Given the description of an element on the screen output the (x, y) to click on. 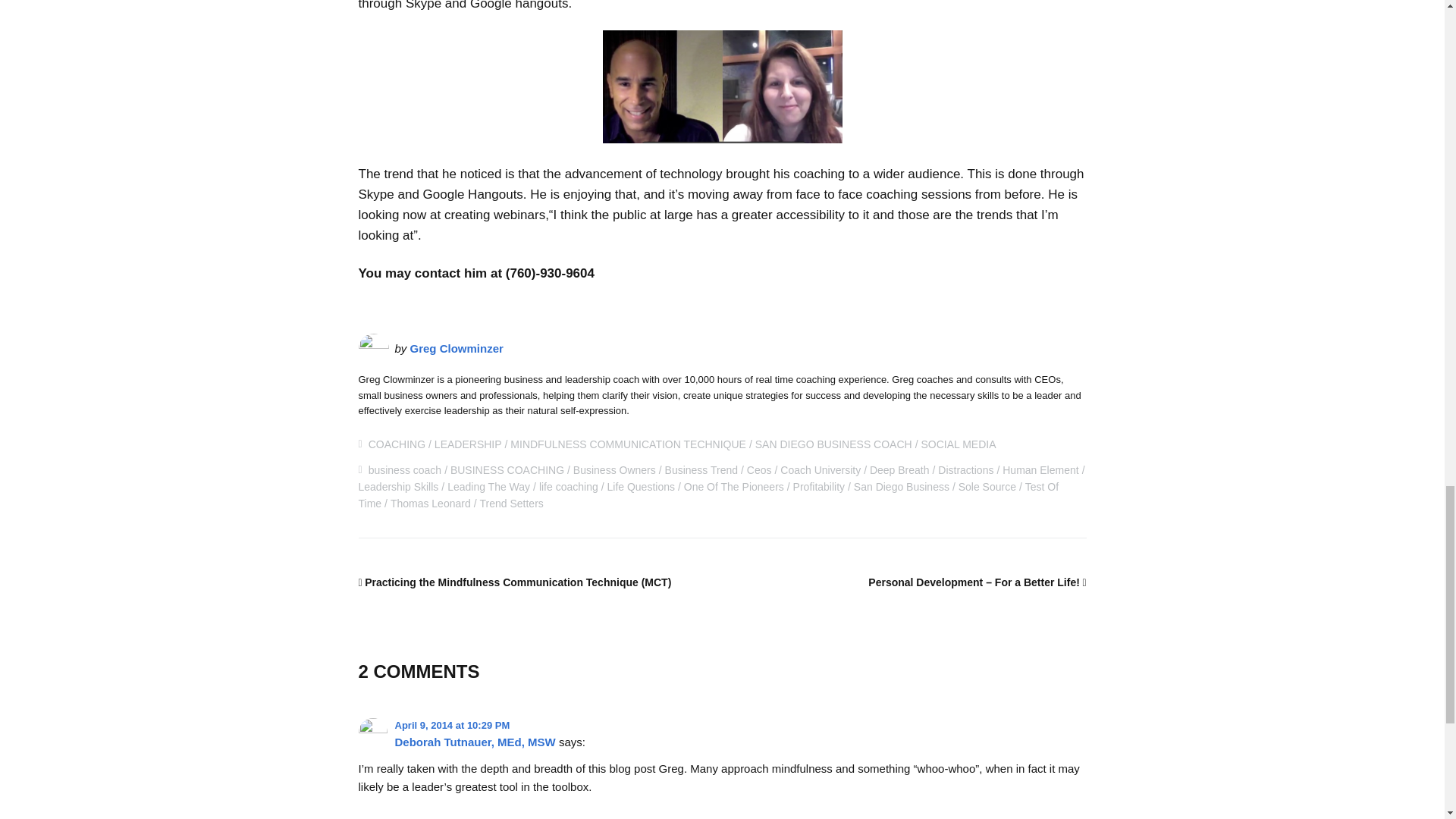
business coach (405, 469)
Greg Clowminzer (456, 348)
Deep Breath (899, 469)
Human Element (1040, 469)
MINDFULNESS COMMUNICATION TECHNIQUE (628, 444)
Distractions (964, 469)
SOCIAL MEDIA (957, 444)
One Of The Pioneers (734, 486)
Life Questions (641, 486)
Business Owners (614, 469)
BUSINESS COACHING (506, 469)
Leadership Skills (398, 486)
LEADERSHIP (467, 444)
San Diego Business (901, 486)
Leading The Way (487, 486)
